Given the description of an element on the screen output the (x, y) to click on. 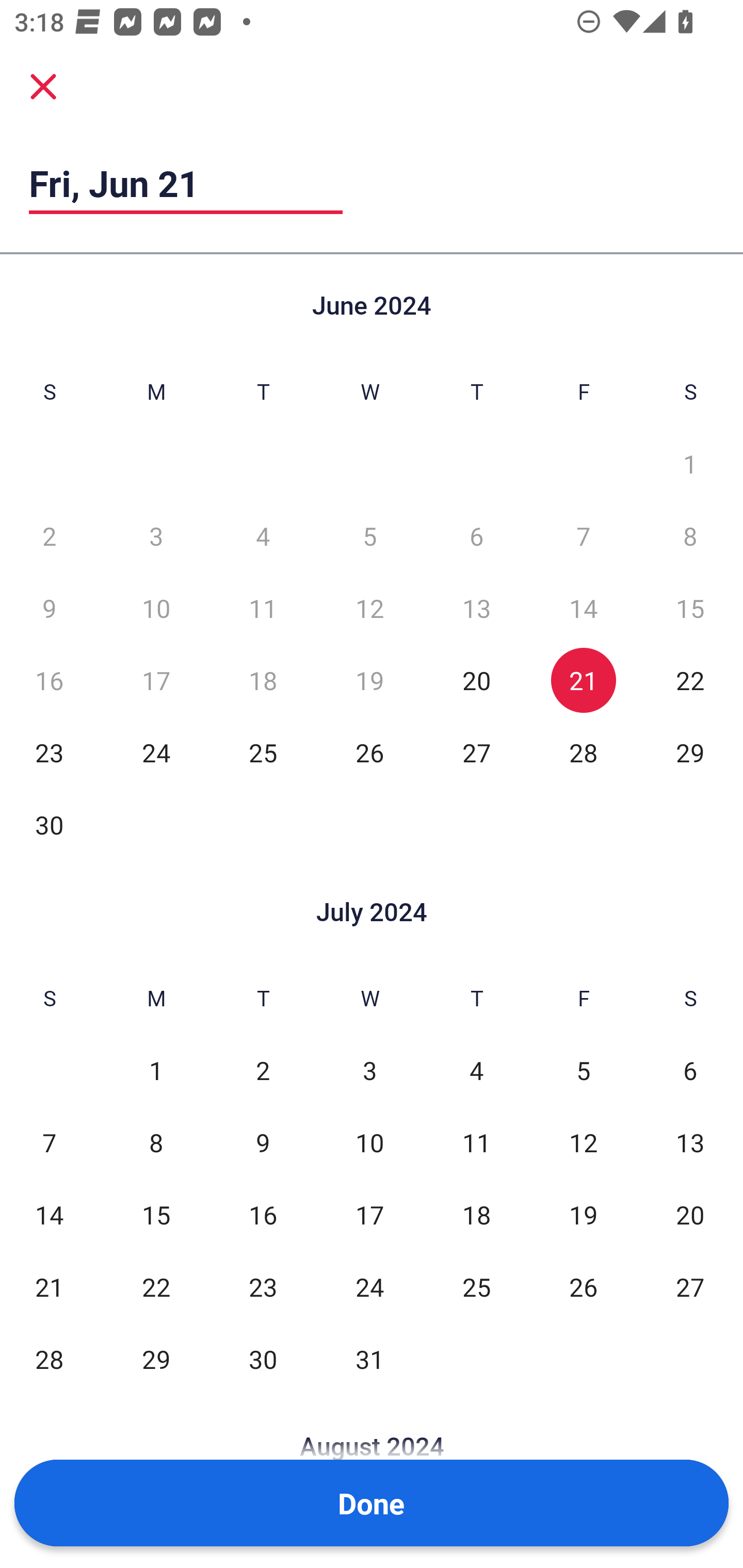
Cancel (43, 86)
Fri, Jun 21 (185, 182)
1 Sat, Jun 1, Not Selected (690, 464)
2 Sun, Jun 2, Not Selected (49, 536)
3 Mon, Jun 3, Not Selected (156, 536)
4 Tue, Jun 4, Not Selected (263, 536)
5 Wed, Jun 5, Not Selected (369, 536)
6 Thu, Jun 6, Not Selected (476, 536)
7 Fri, Jun 7, Not Selected (583, 536)
8 Sat, Jun 8, Not Selected (690, 536)
9 Sun, Jun 9, Not Selected (49, 608)
10 Mon, Jun 10, Not Selected (156, 608)
11 Tue, Jun 11, Not Selected (263, 608)
12 Wed, Jun 12, Not Selected (369, 608)
13 Thu, Jun 13, Not Selected (476, 608)
14 Fri, Jun 14, Not Selected (583, 608)
15 Sat, Jun 15, Not Selected (690, 608)
16 Sun, Jun 16, Not Selected (49, 680)
17 Mon, Jun 17, Not Selected (156, 680)
18 Tue, Jun 18, Not Selected (263, 680)
19 Wed, Jun 19, Not Selected (369, 680)
20 Thu, Jun 20, Not Selected (476, 680)
21 Fri, Jun 21, Selected (583, 680)
22 Sat, Jun 22, Not Selected (690, 680)
23 Sun, Jun 23, Not Selected (49, 752)
24 Mon, Jun 24, Not Selected (156, 752)
25 Tue, Jun 25, Not Selected (263, 752)
26 Wed, Jun 26, Not Selected (369, 752)
27 Thu, Jun 27, Not Selected (476, 752)
28 Fri, Jun 28, Not Selected (583, 752)
29 Sat, Jun 29, Not Selected (690, 752)
30 Sun, Jun 30, Not Selected (49, 824)
1 Mon, Jul 1, Not Selected (156, 1070)
2 Tue, Jul 2, Not Selected (263, 1070)
3 Wed, Jul 3, Not Selected (369, 1070)
4 Thu, Jul 4, Not Selected (476, 1070)
5 Fri, Jul 5, Not Selected (583, 1070)
6 Sat, Jul 6, Not Selected (690, 1070)
7 Sun, Jul 7, Not Selected (49, 1143)
8 Mon, Jul 8, Not Selected (156, 1143)
9 Tue, Jul 9, Not Selected (263, 1143)
10 Wed, Jul 10, Not Selected (369, 1143)
11 Thu, Jul 11, Not Selected (476, 1143)
12 Fri, Jul 12, Not Selected (583, 1143)
13 Sat, Jul 13, Not Selected (690, 1143)
14 Sun, Jul 14, Not Selected (49, 1215)
15 Mon, Jul 15, Not Selected (156, 1215)
16 Tue, Jul 16, Not Selected (263, 1215)
17 Wed, Jul 17, Not Selected (369, 1215)
18 Thu, Jul 18, Not Selected (476, 1215)
19 Fri, Jul 19, Not Selected (583, 1215)
20 Sat, Jul 20, Not Selected (690, 1215)
21 Sun, Jul 21, Not Selected (49, 1287)
22 Mon, Jul 22, Not Selected (156, 1287)
23 Tue, Jul 23, Not Selected (263, 1287)
24 Wed, Jul 24, Not Selected (369, 1287)
25 Thu, Jul 25, Not Selected (476, 1287)
26 Fri, Jul 26, Not Selected (583, 1287)
27 Sat, Jul 27, Not Selected (690, 1287)
28 Sun, Jul 28, Not Selected (49, 1359)
29 Mon, Jul 29, Not Selected (156, 1359)
30 Tue, Jul 30, Not Selected (263, 1359)
31 Wed, Jul 31, Not Selected (369, 1359)
Done Button Done (371, 1502)
